Given the description of an element on the screen output the (x, y) to click on. 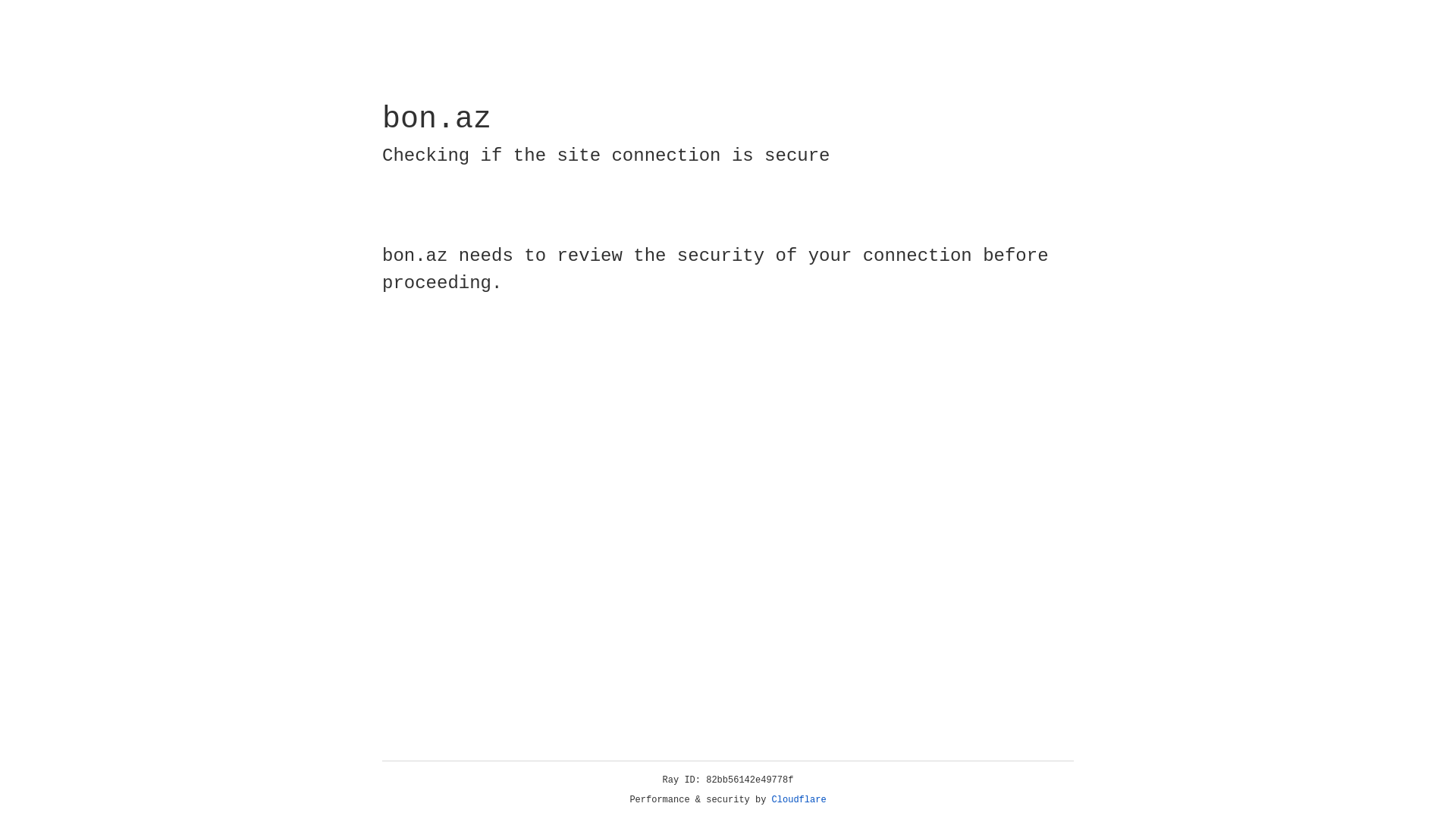
Cloudflare Element type: text (798, 799)
